Given the description of an element on the screen output the (x, y) to click on. 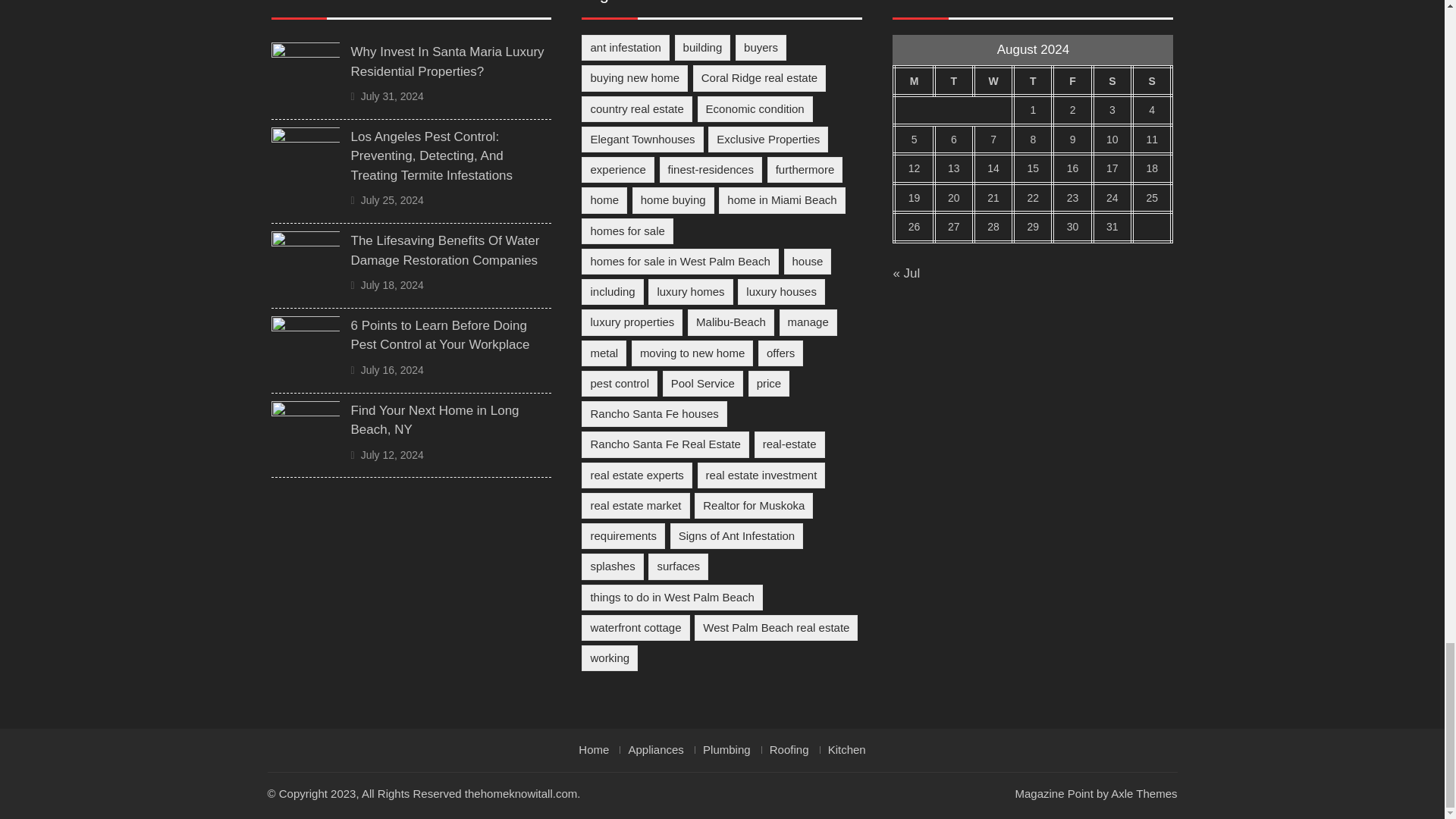
Tuesday (954, 81)
Sunday (1152, 81)
Monday (913, 81)
Thursday (1032, 81)
Friday (1072, 81)
Saturday (1112, 81)
Wednesday (993, 81)
